Given the description of an element on the screen output the (x, y) to click on. 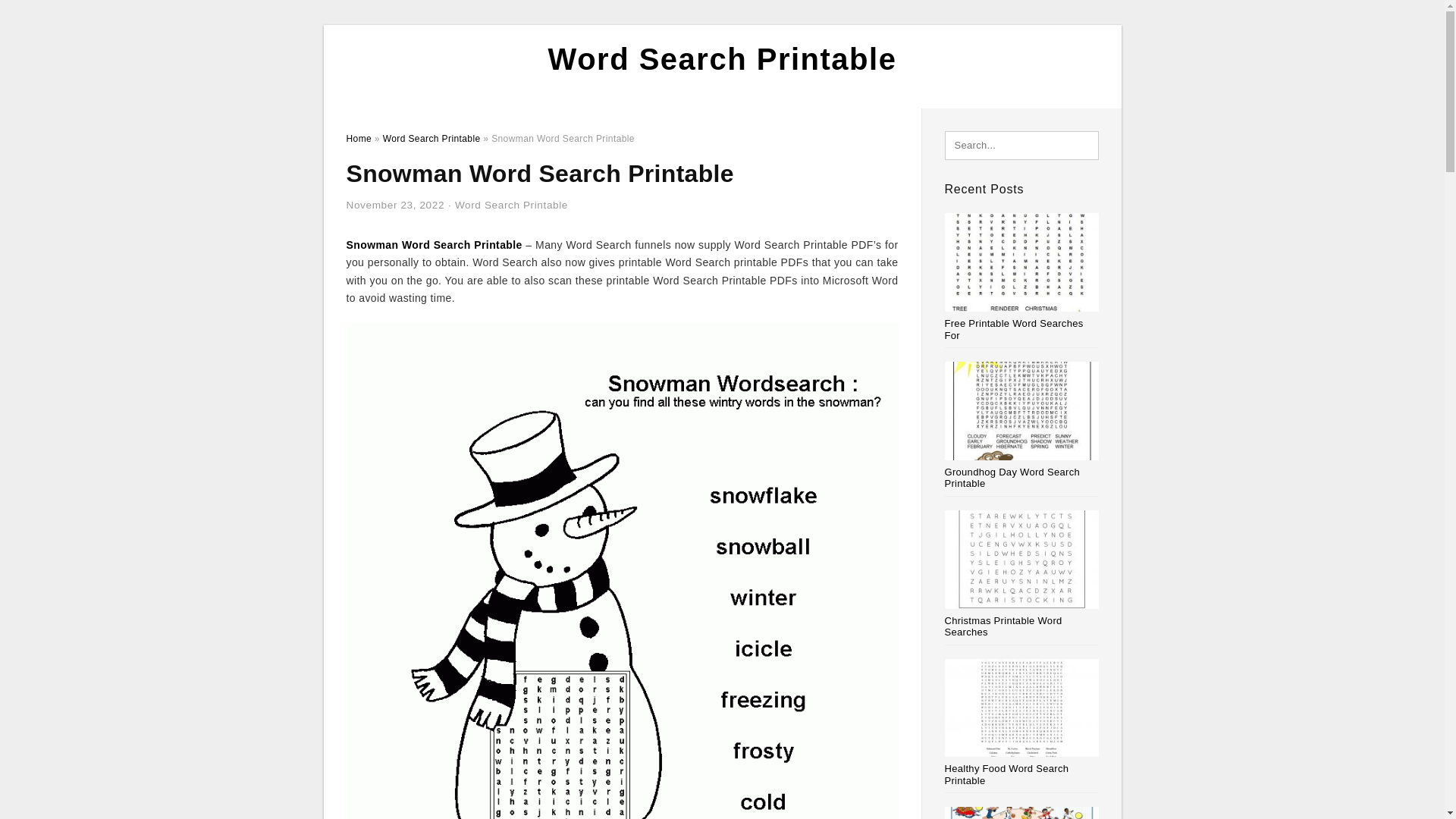
Healthy Food Word Search Printable (1006, 774)
Word Search Printable (431, 138)
Snowman Word Search Printable (433, 244)
Free Printable Word Searches For (1013, 329)
Home (358, 138)
Word Search Printable (510, 204)
Search (43, 15)
Groundhog Day Word Search Printable (1012, 477)
Word Search Printable (722, 59)
Christmas Printable Word Searches (1003, 626)
